Given the description of an element on the screen output the (x, y) to click on. 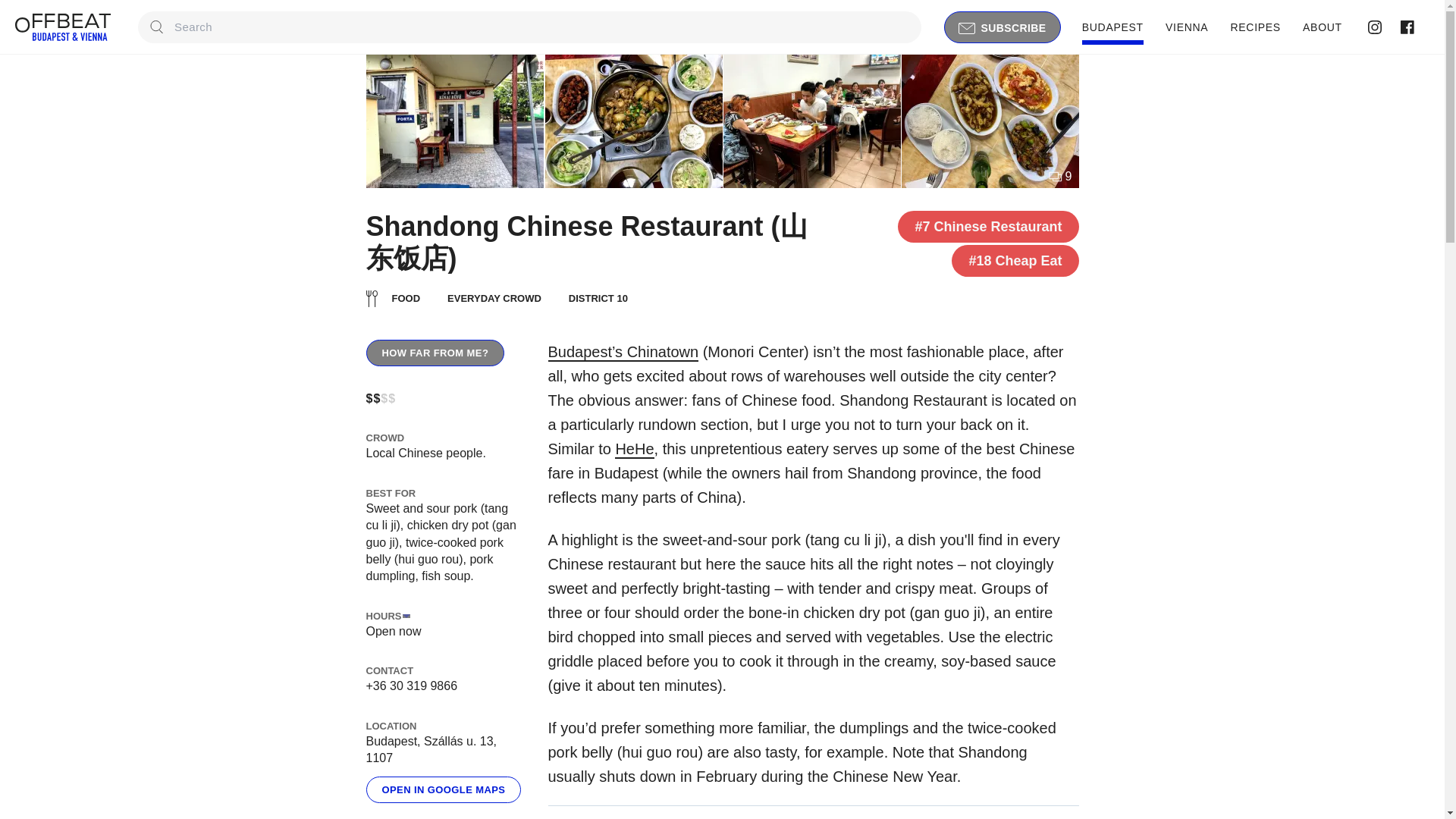
Instagram profile (1372, 27)
DISTRICT 10 (598, 298)
BUDAPEST (1111, 27)
EVERYDAY (473, 297)
Facebook page (1404, 27)
HeHe (633, 449)
All places with everyday crowd (473, 297)
FOOD (392, 298)
MAILICON OF A LETTER (966, 28)
RECIPES (1255, 27)
Price range (380, 398)
OPEN IN GOOGLE MAPS (443, 789)
HOW FAR FROM ME? (434, 352)
MAILICON OF A LETTERSUBSCRIBE (1002, 27)
All restaurants, bistros, and other places serving food (392, 298)
